Given the description of an element on the screen output the (x, y) to click on. 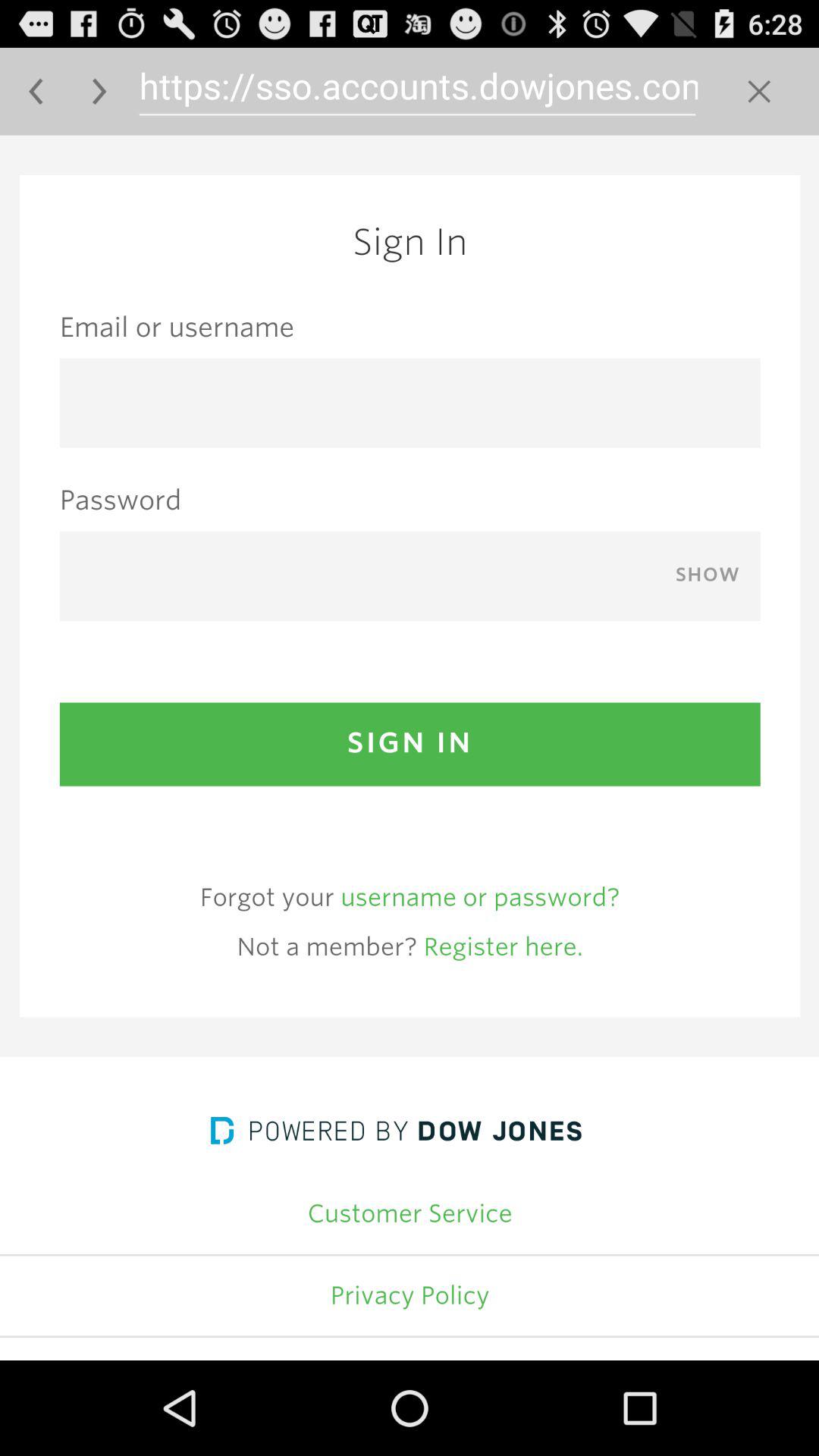
for advertisement (409, 747)
